Given the description of an element on the screen output the (x, y) to click on. 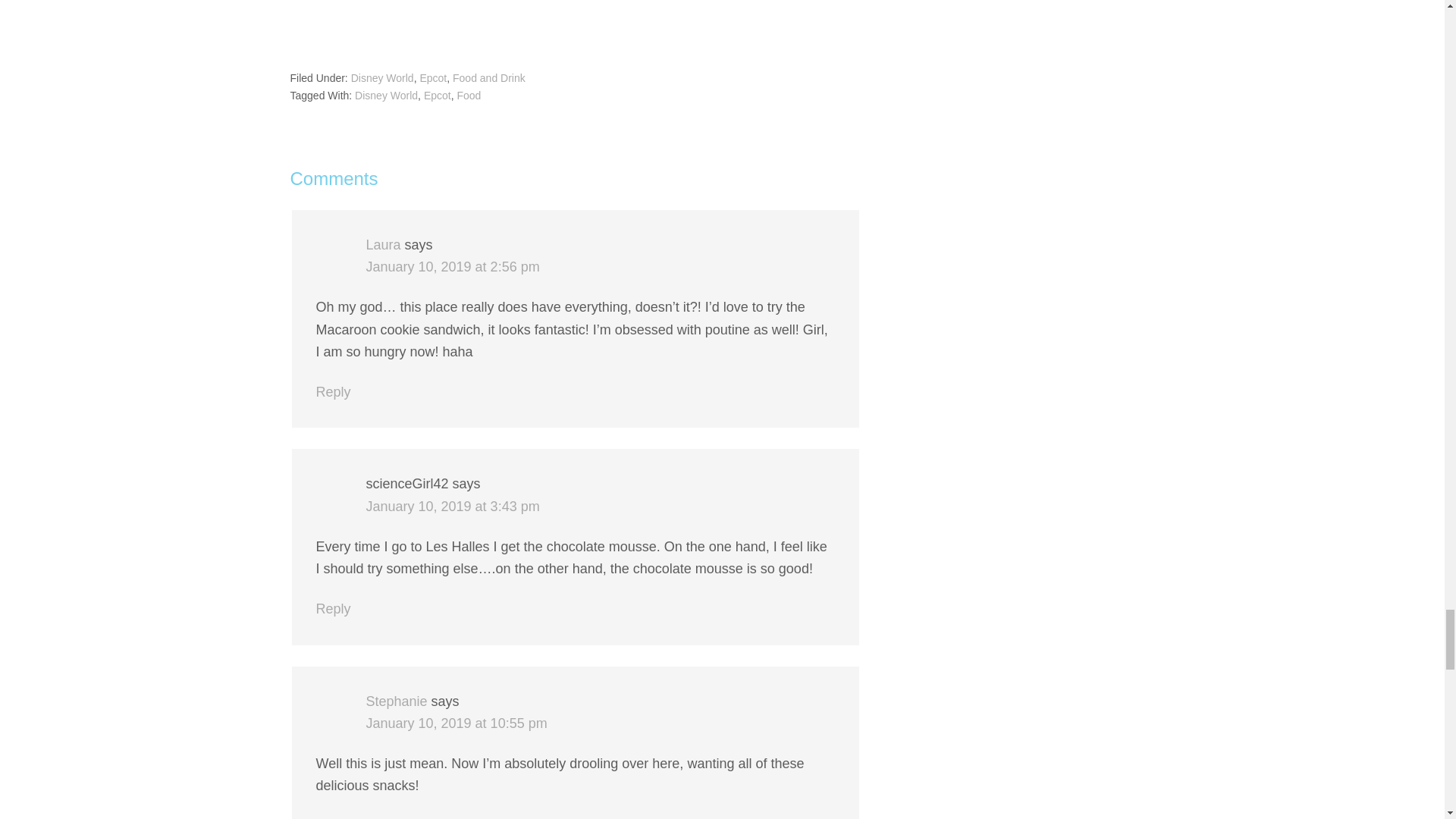
Reply (332, 391)
January 10, 2019 at 2:56 pm (451, 266)
Disney World (381, 78)
January 10, 2019 at 3:43 pm (451, 506)
Epcot (437, 95)
Food and Drink (488, 78)
Reply (332, 608)
Disney World (386, 95)
Food (468, 95)
Epcot (432, 78)
Laura (382, 244)
